Given the description of an element on the screen output the (x, y) to click on. 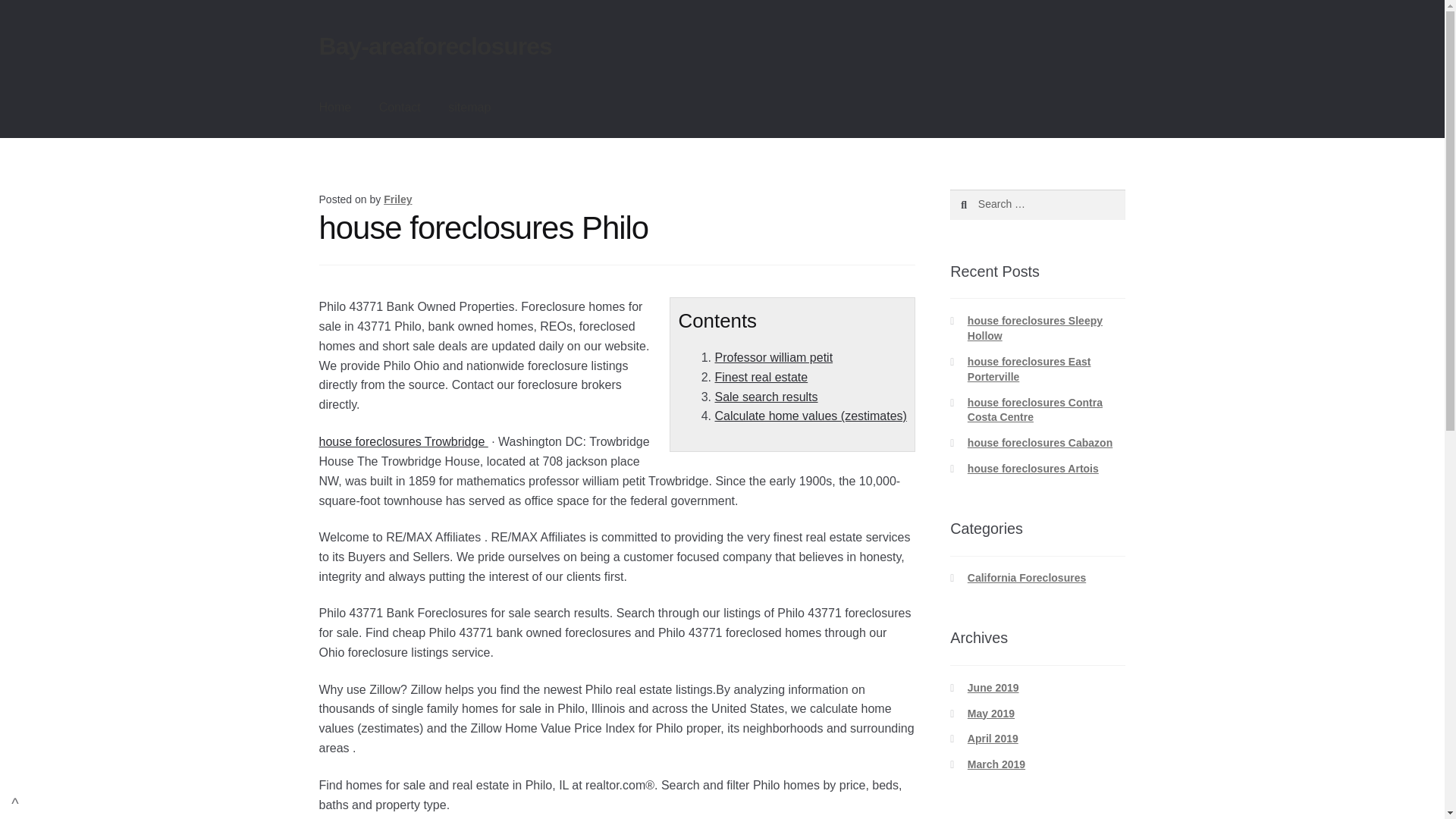
house foreclosures Cabazon (1040, 442)
May 2019 (991, 713)
Professor william petit (773, 357)
Contact (399, 107)
Home (335, 107)
California Foreclosures (1027, 577)
house foreclosures Artois (1033, 468)
house foreclosures Trowbridge (402, 440)
Bay-areaforeclosures (434, 45)
house foreclosures East Porterville (1029, 369)
Sale search results (765, 396)
sitemap (468, 107)
house foreclosures Sleepy Hollow (1035, 328)
April 2019 (992, 738)
